Given the description of an element on the screen output the (x, y) to click on. 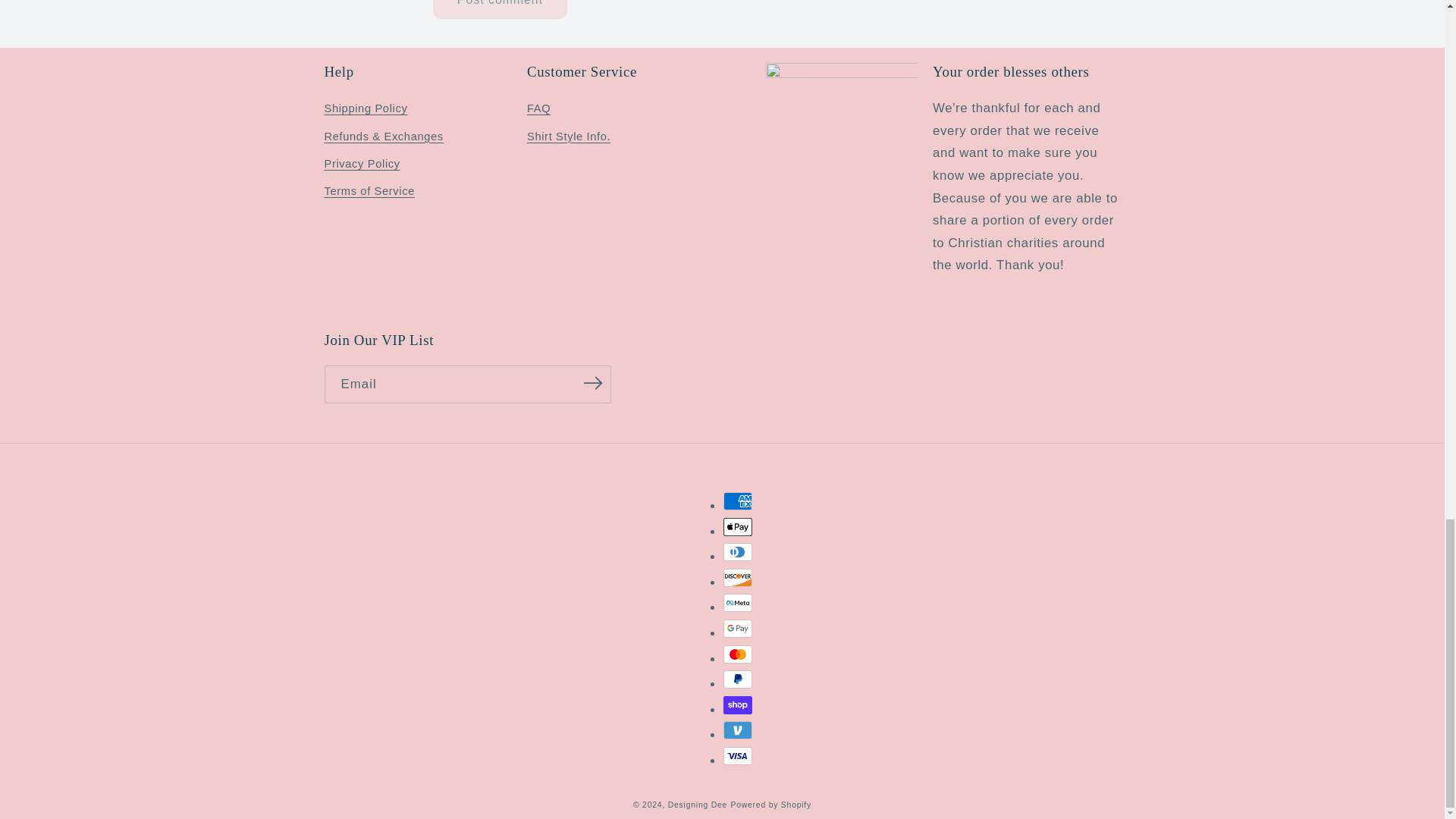
Shop Pay (737, 705)
American Express (737, 501)
PayPal (737, 679)
Venmo (737, 730)
Discover (737, 577)
Visa (737, 755)
Google Pay (737, 628)
Meta Pay (737, 602)
Mastercard (737, 654)
Post comment (499, 9)
